Given the description of an element on the screen output the (x, y) to click on. 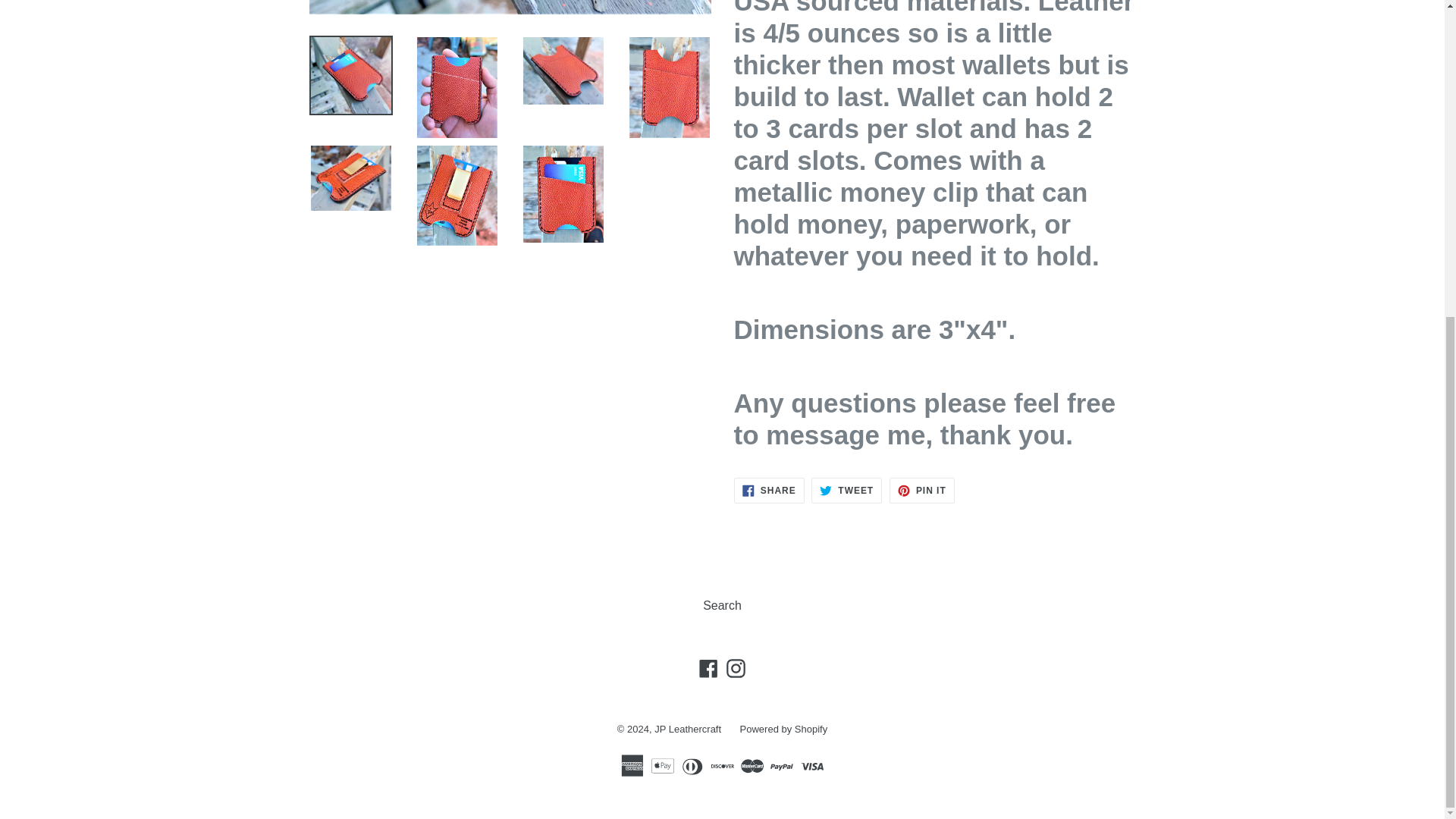
Tweet on Twitter (846, 490)
Powered by Shopify (922, 490)
Search (783, 728)
JP Leathercraft (722, 604)
Facebook (686, 728)
JP Leathercraft on Instagram (708, 668)
Pin on Pinterest (735, 668)
JP Leathercraft on Facebook (922, 490)
Share on Facebook (769, 490)
Instagram (708, 668)
